Given the description of an element on the screen output the (x, y) to click on. 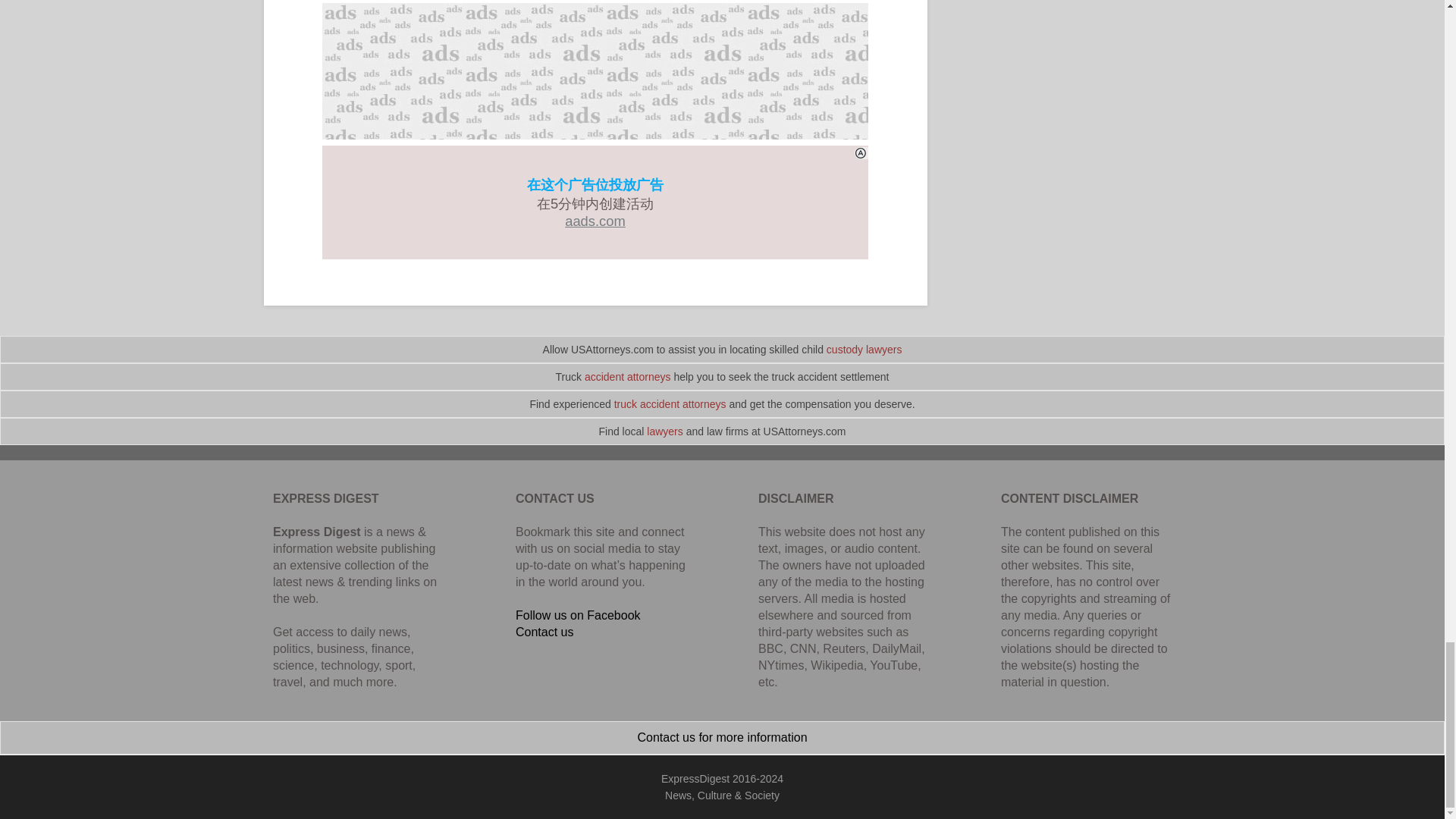
truck accident attorneys (670, 404)
custody lawyers (864, 349)
lawyers (664, 431)
accident attorneys (628, 377)
